Given the description of an element on the screen output the (x, y) to click on. 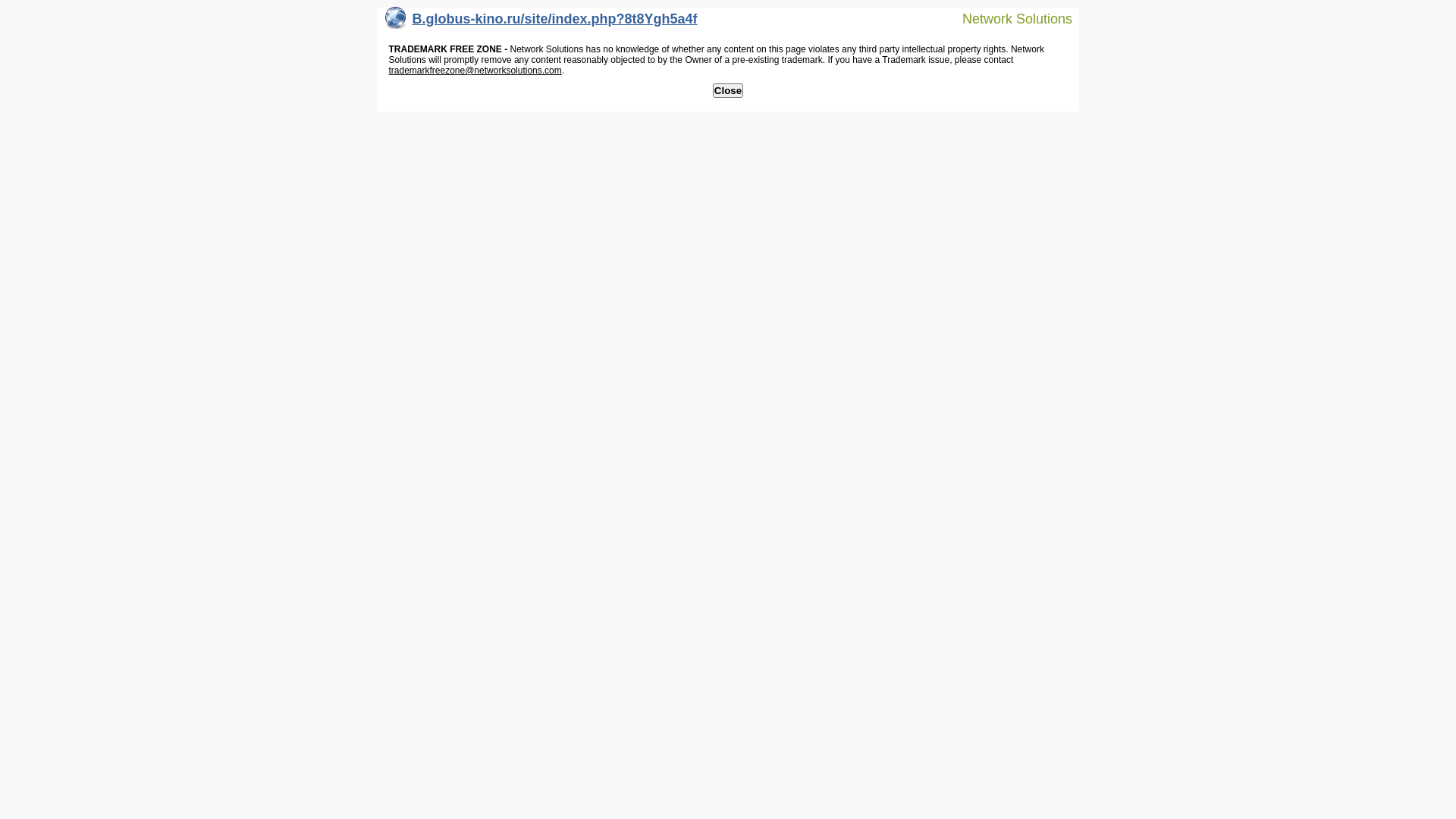
Close Element type: text (727, 90)
trademarkfreezone@networksolutions.com Element type: text (474, 70)
B.globus-kino.ru/site/index.php?8t8Ygh5a4f Element type: text (541, 21)
Network Solutions Element type: text (1007, 17)
